Given the description of an element on the screen output the (x, y) to click on. 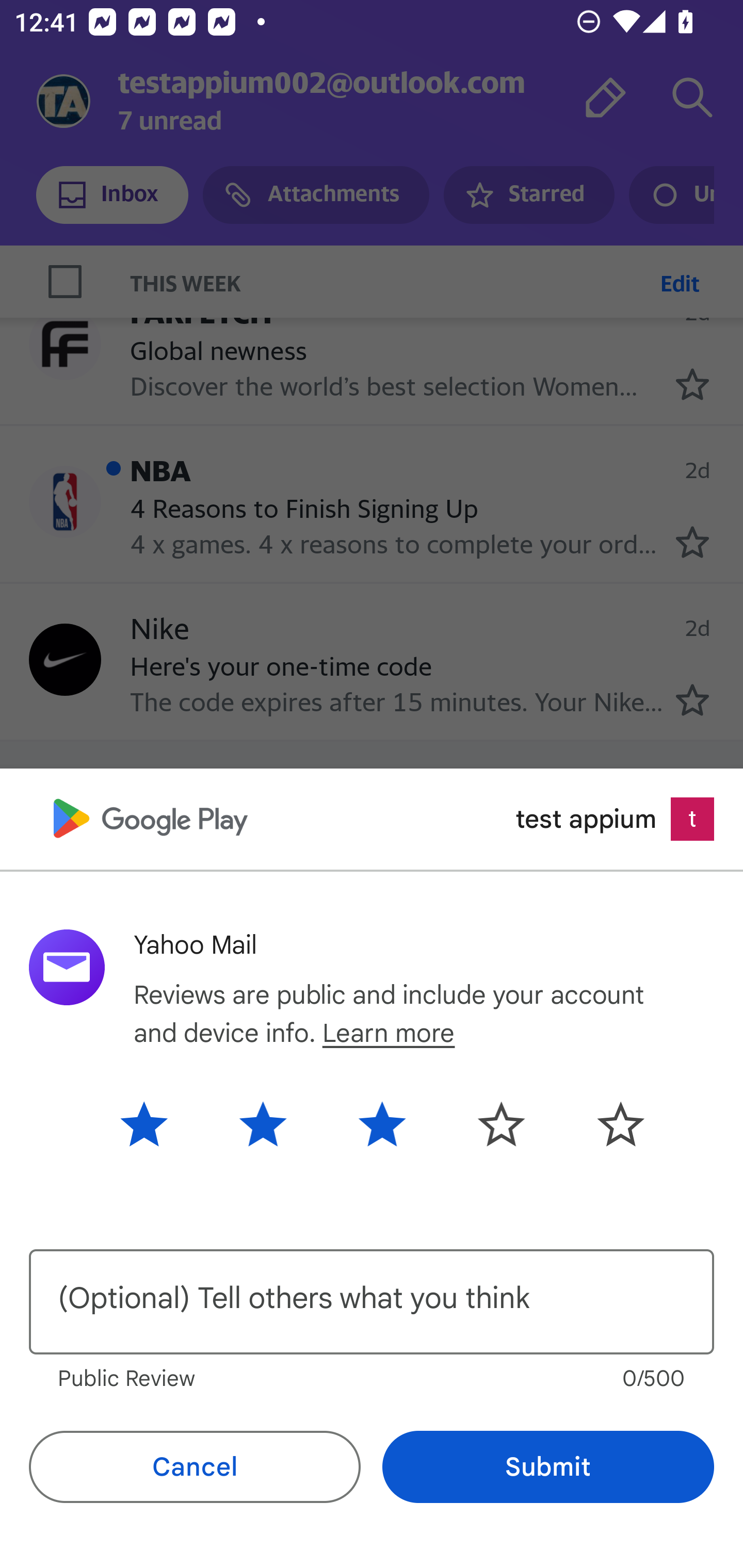
First star selected (159, 1123)
Second star selected (262, 1123)
Third star selected (381, 1123)
Fourth star unselected (500, 1123)
Fifth star unselected (604, 1123)
(Optional) Tell others what you think (371, 1301)
Cancel (194, 1466)
Submit (548, 1466)
